Given the description of an element on the screen output the (x, y) to click on. 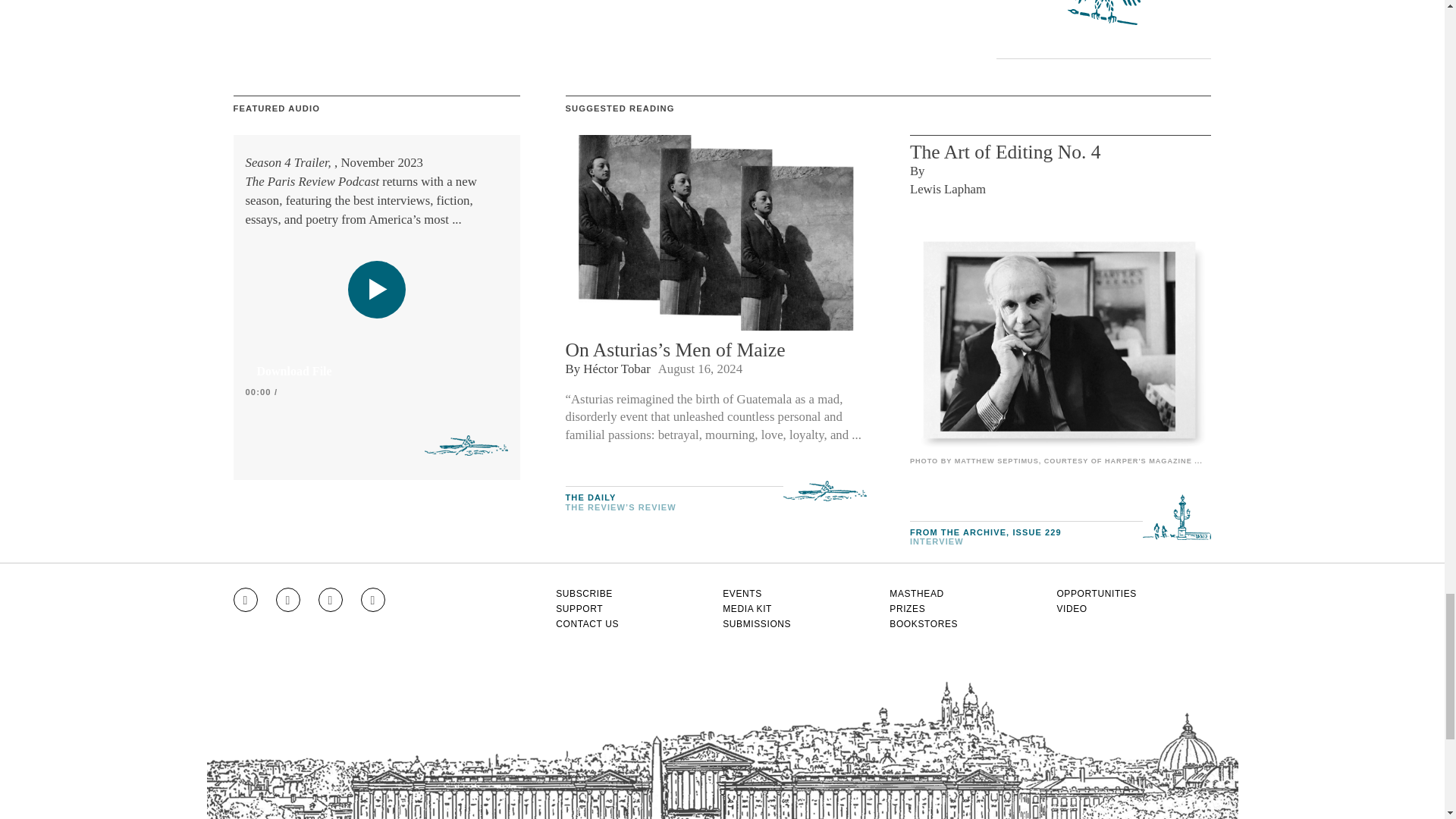
Go to Instagram feed (244, 599)
Go to Twitter feed (330, 599)
Go to Facebook page (287, 599)
undefined (1060, 339)
Go to RSS feed (373, 599)
